Given the description of an element on the screen output the (x, y) to click on. 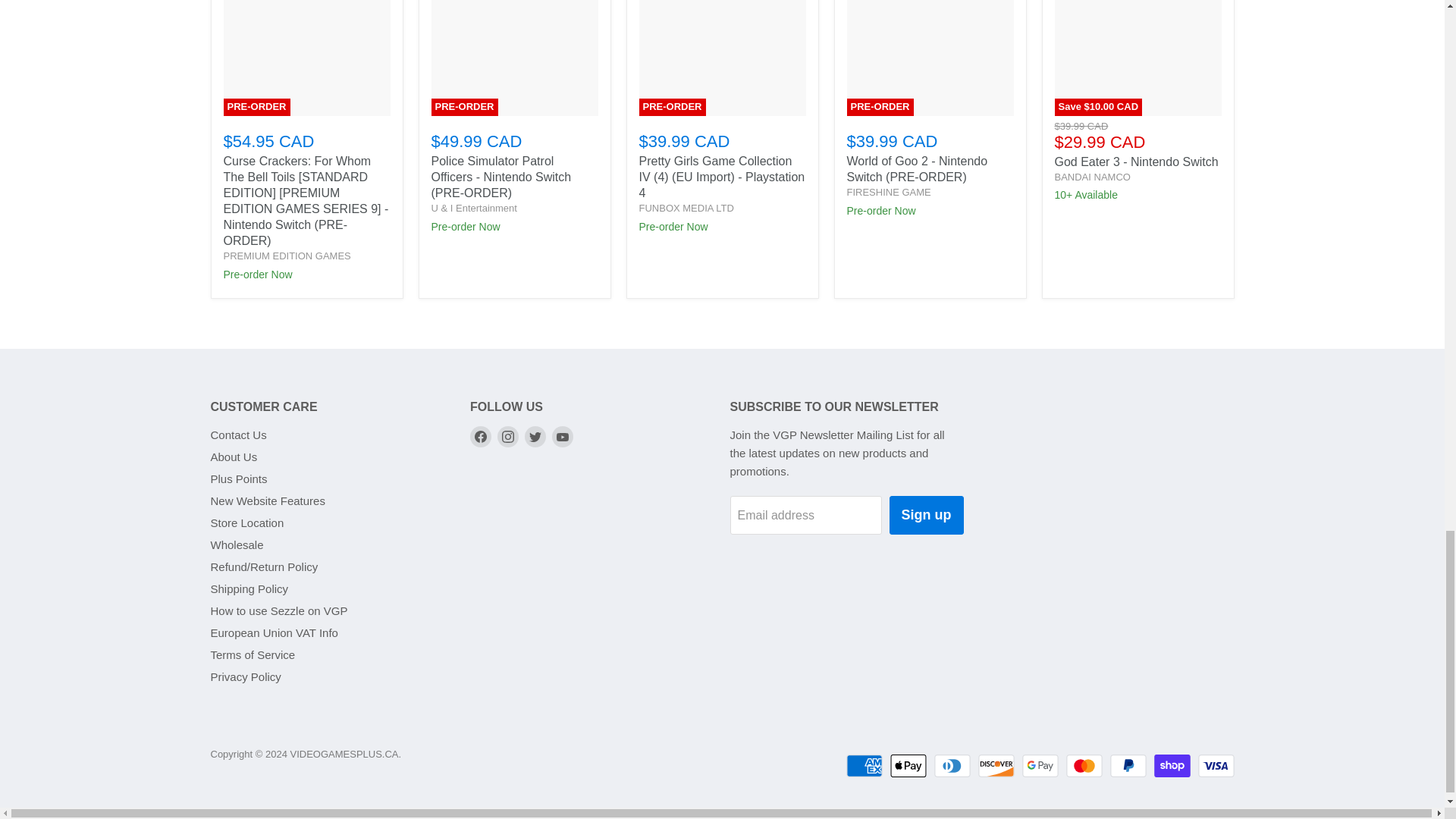
FIRESHINE GAME (887, 192)
Twitter (535, 436)
Instagram (507, 436)
PREMIUM EDITION GAMES (286, 255)
FUNBOX MEDIA LTD (686, 207)
BANDAI NAMCO (1091, 176)
Facebook (481, 436)
YouTube (562, 436)
